Given the description of an element on the screen output the (x, y) to click on. 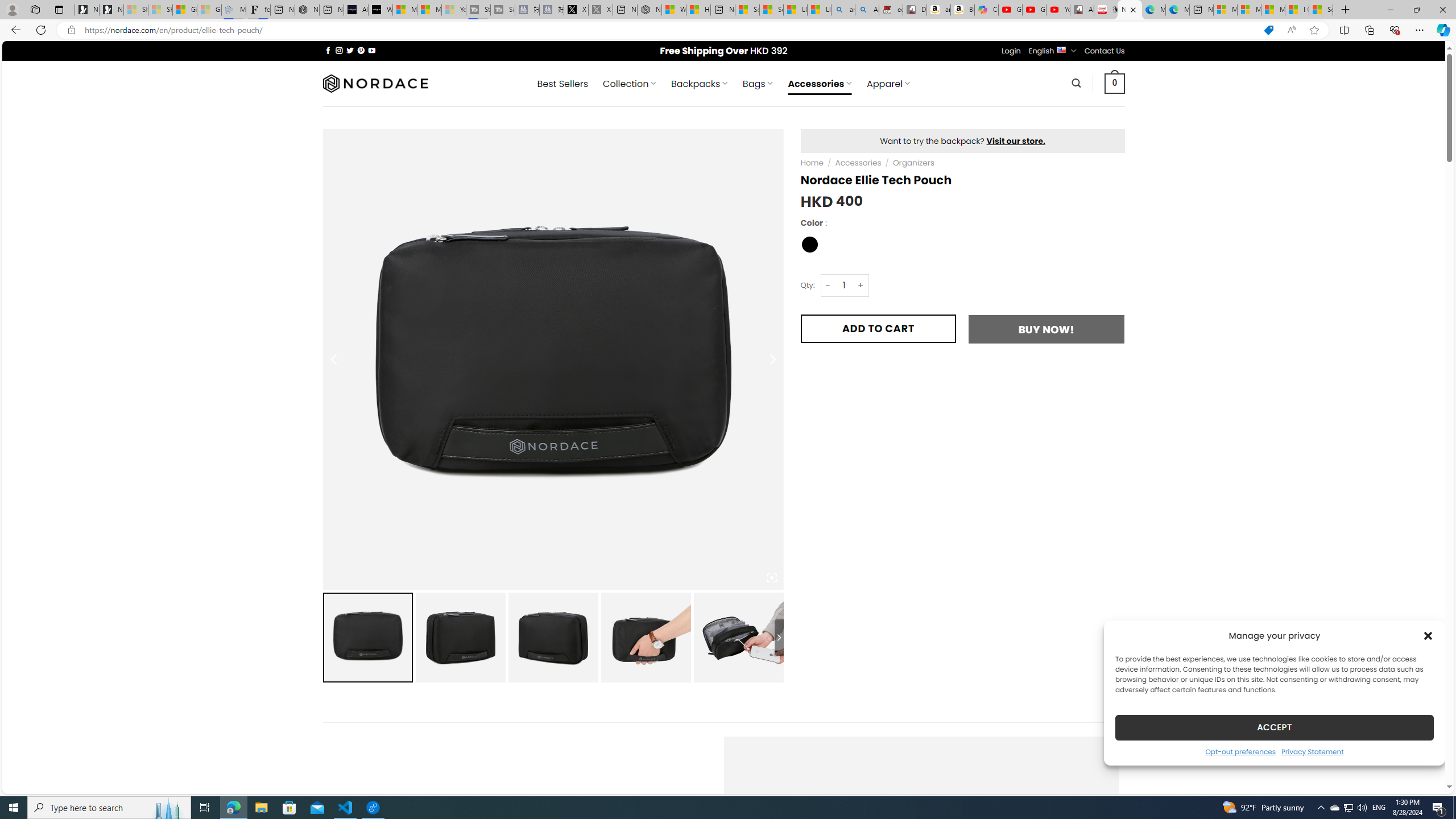
- (827, 284)
Nordace Ellie Tech Pouch (738, 637)
Class: cmplz-close (1428, 635)
+ (861, 284)
 0  (1115, 83)
